Given the description of an element on the screen output the (x, y) to click on. 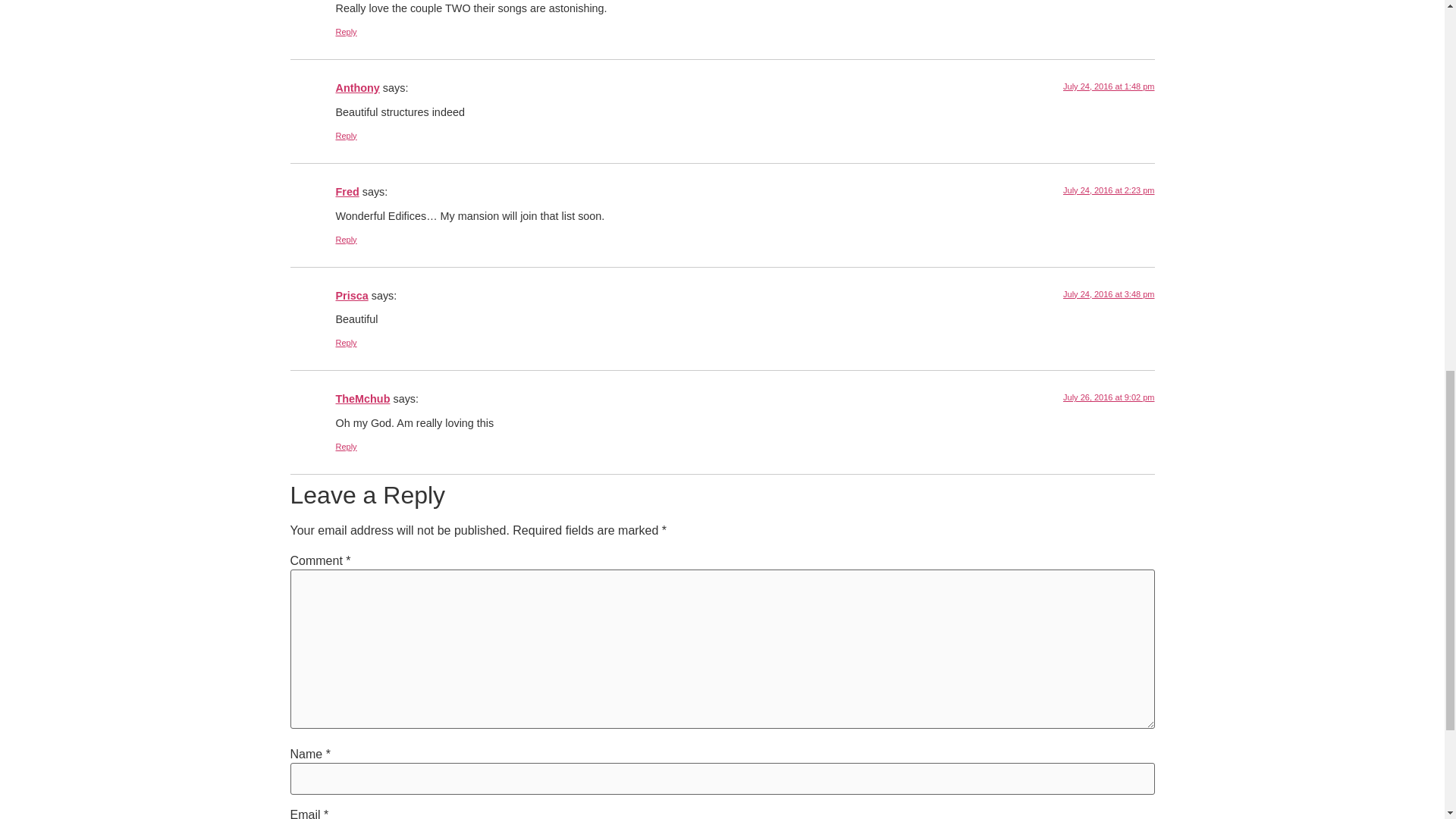
Fred (346, 191)
Reply (345, 31)
Anthony (356, 87)
July 24, 2016 at 1:48 pm (1108, 85)
July 24, 2016 at 3:48 pm (1108, 293)
July 24, 2016 at 2:23 pm (1108, 189)
Reply (345, 239)
Reply (345, 135)
Prisca (351, 295)
